Given the description of an element on the screen output the (x, y) to click on. 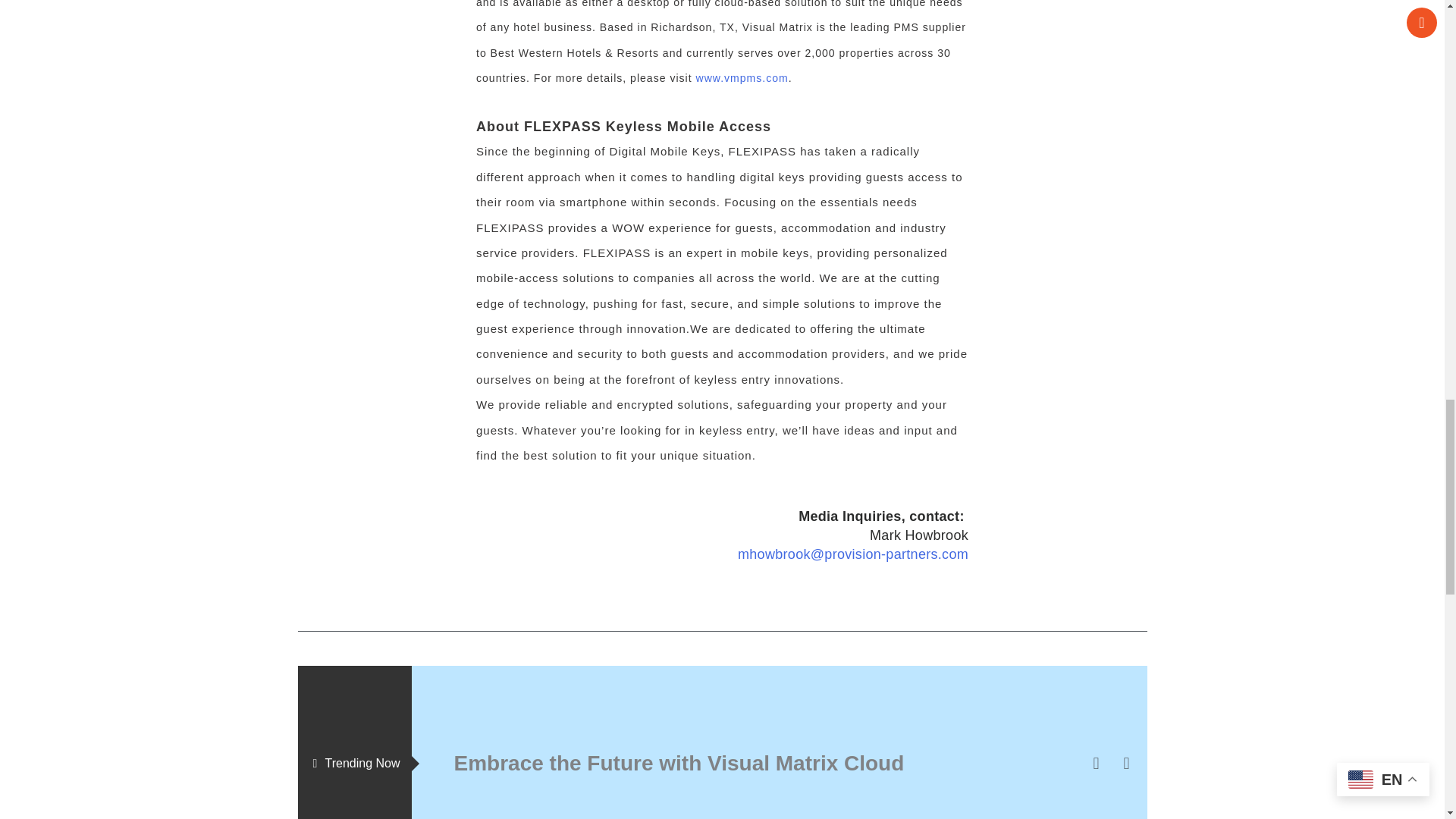
www.vmpms.com (741, 78)
